Given the description of an element on the screen output the (x, y) to click on. 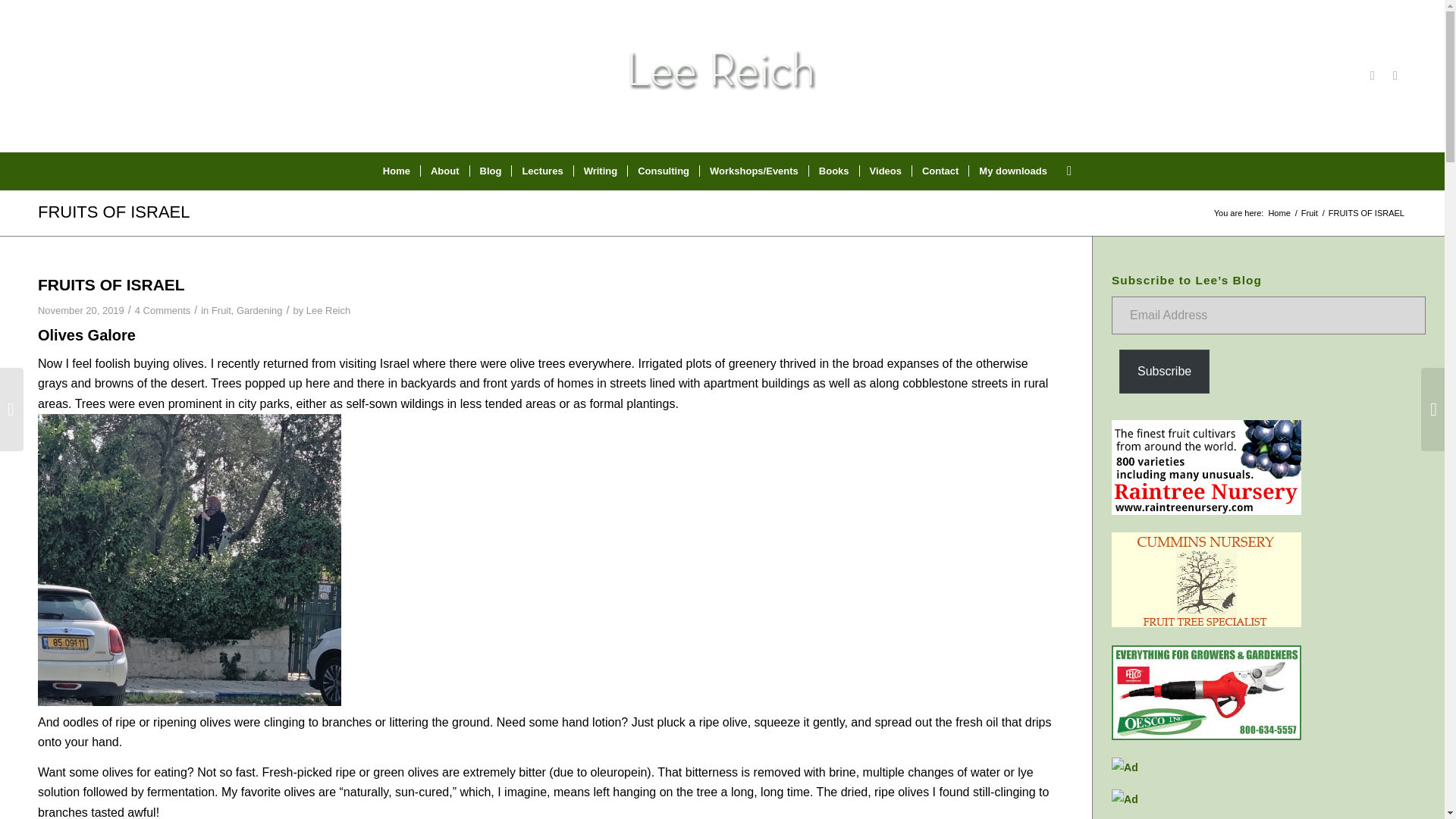
Fruit (221, 310)
Lee Reich (327, 310)
Home (396, 171)
Blog (490, 171)
Permanent Link: FRUITS OF ISRAEL (113, 211)
Contact (939, 171)
4 Comments (162, 310)
Books (833, 171)
Gardening (258, 310)
Writing (600, 171)
